Given the description of an element on the screen output the (x, y) to click on. 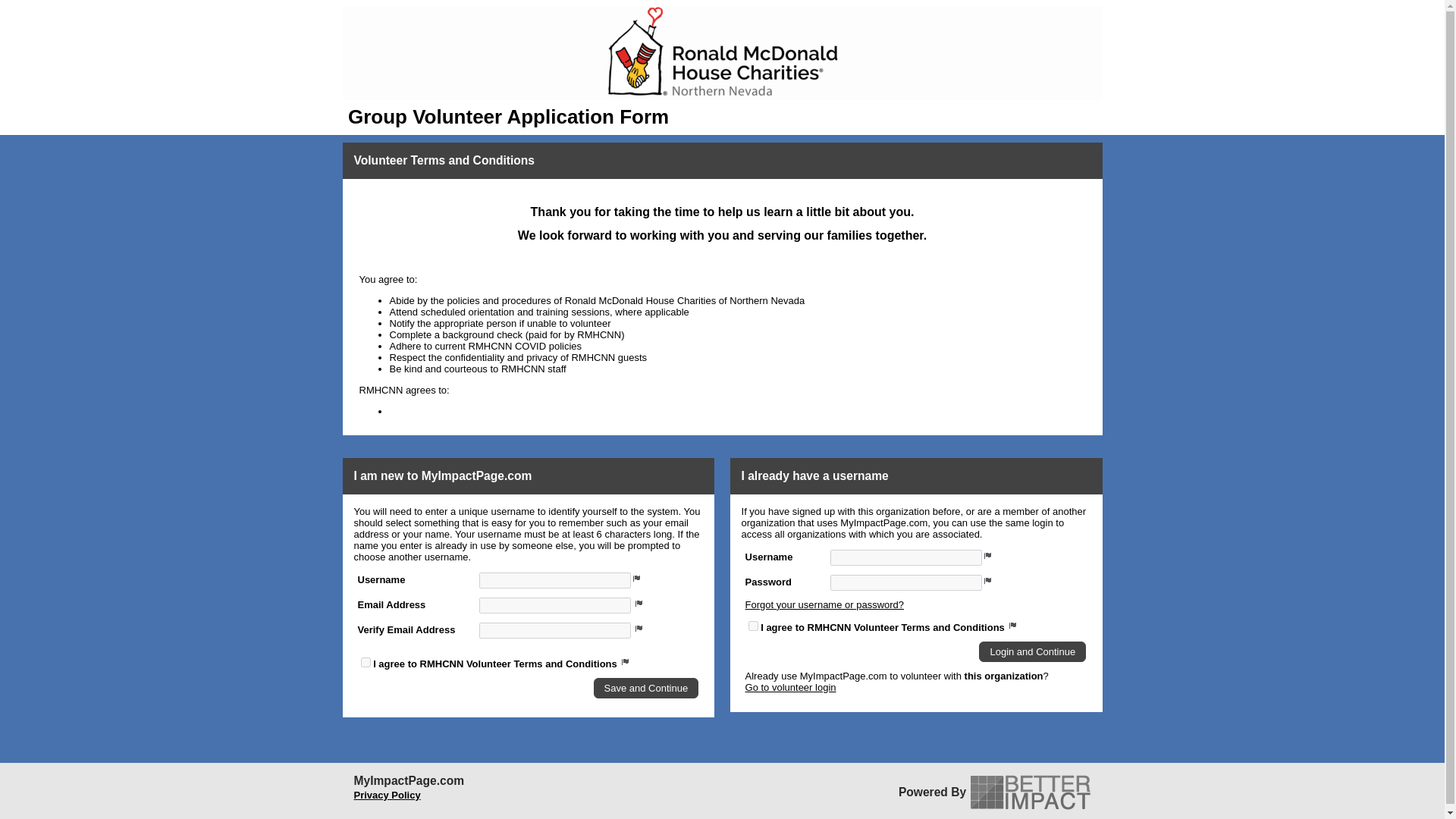
Required (639, 627)
Required (625, 661)
on (753, 624)
Login and Continue (1032, 651)
Go to volunteer login (790, 686)
Save and Continue (646, 688)
Required (1013, 624)
Login and Continue (1032, 651)
Required (987, 554)
Required (639, 602)
Save and Continue (646, 688)
Required (987, 579)
Required (636, 577)
Forgot your username or password? (824, 604)
Privacy Policy (386, 794)
